Given the description of an element on the screen output the (x, y) to click on. 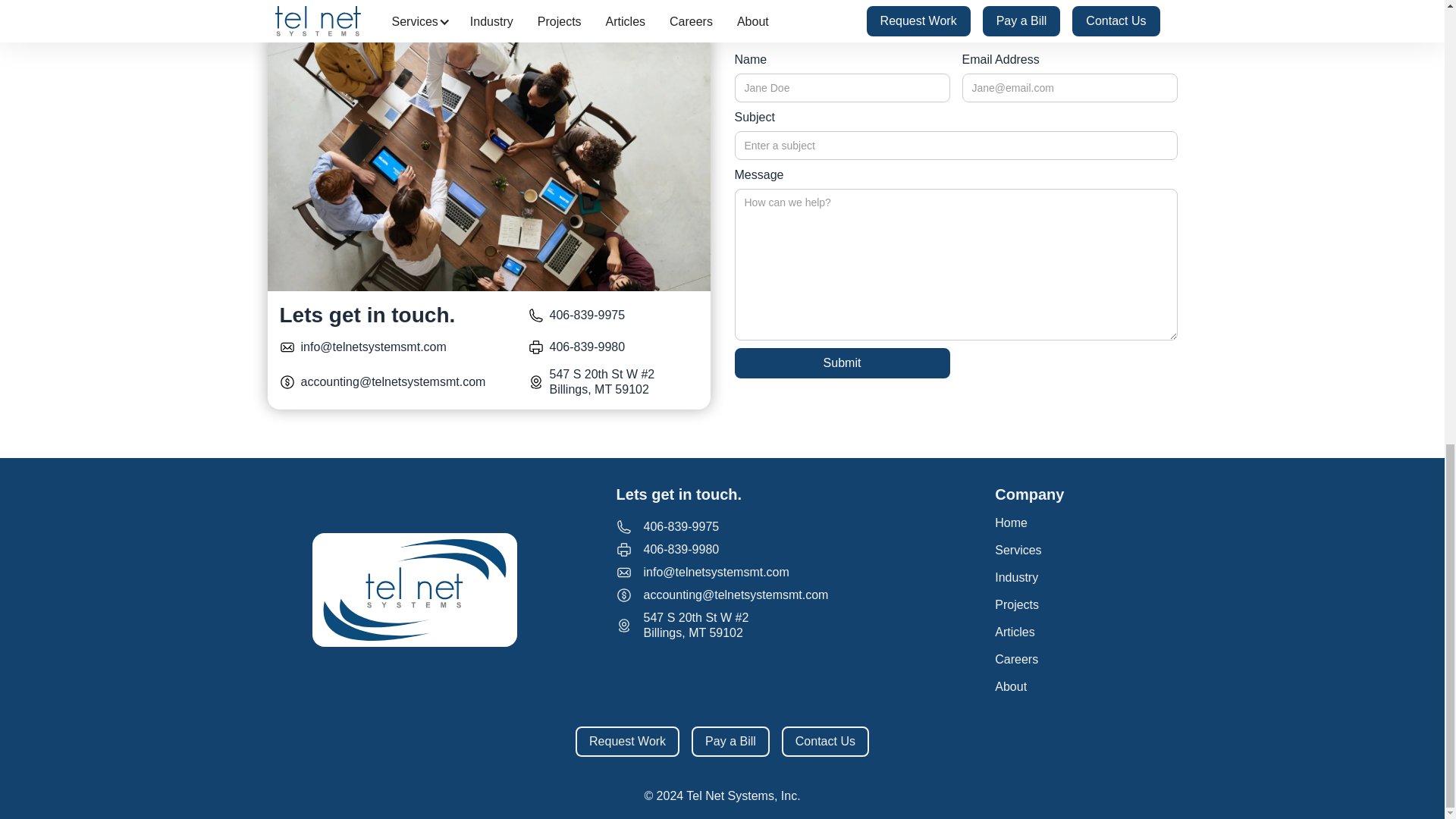
406-839-9980 (681, 549)
Home (1029, 522)
406-839-9975 (586, 314)
406-839-9980 (586, 346)
Submit (841, 363)
406-839-9975 (681, 526)
Submit (841, 363)
